Given the description of an element on the screen output the (x, y) to click on. 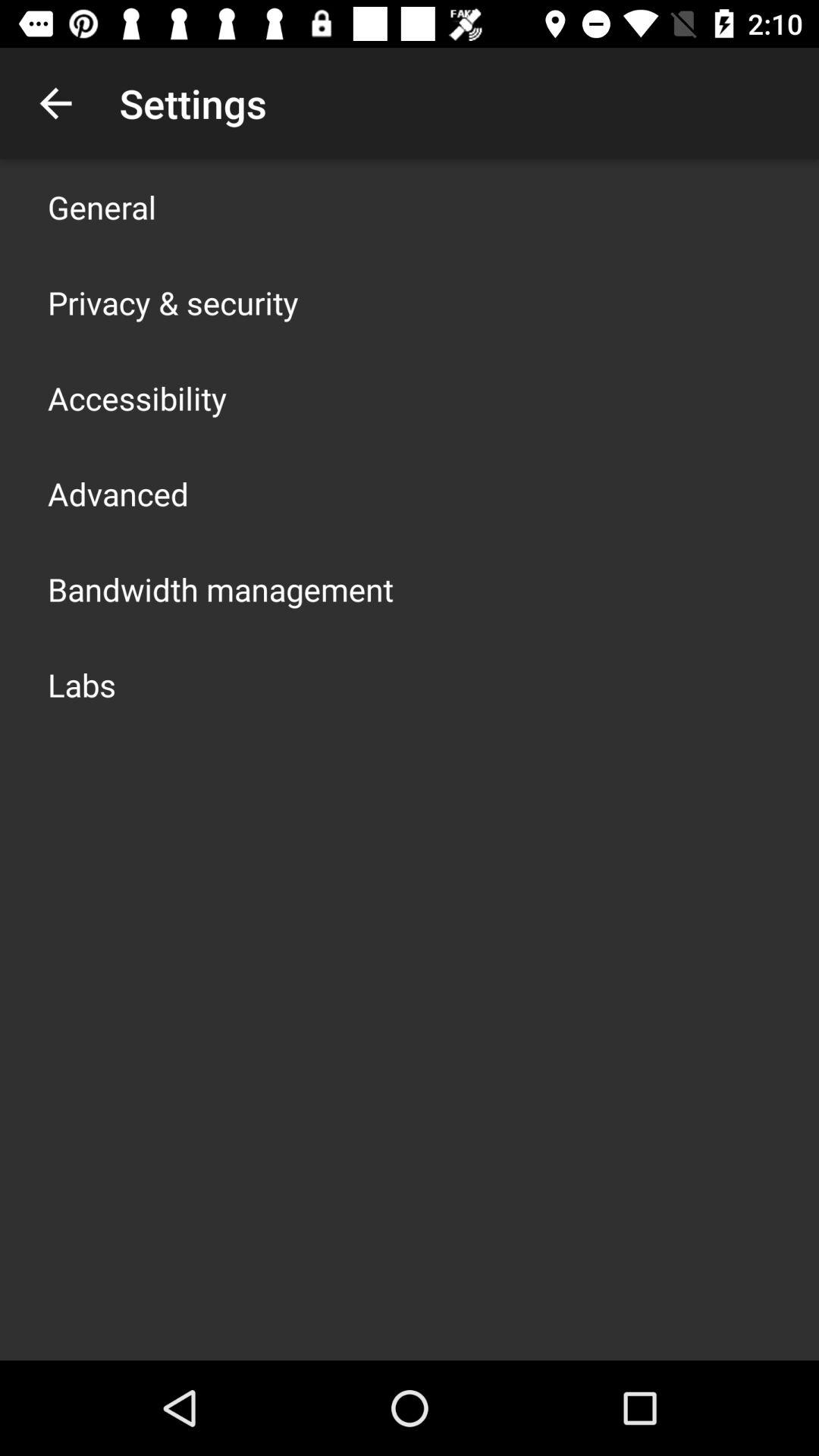
turn on item above labs (220, 588)
